Given the description of an element on the screen output the (x, y) to click on. 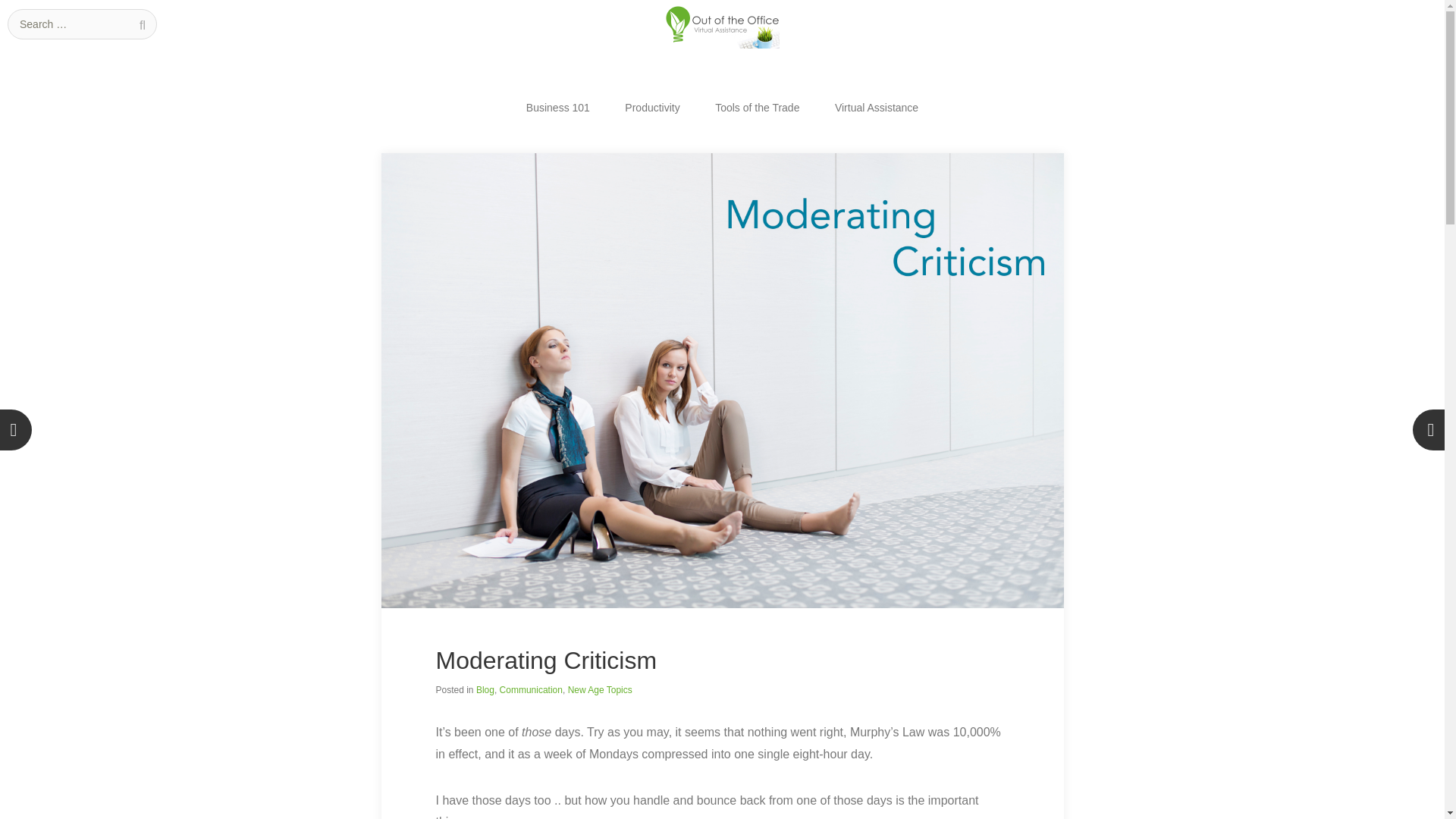
Blog (485, 689)
Virtual Assistance (876, 107)
Facebook (1318, 8)
Instagram (1340, 8)
Communication (530, 689)
Tools of the Trade (756, 107)
Pinterest (1404, 8)
Twitter (1382, 8)
Search for: (82, 24)
LinkedIn (1426, 8)
Business 101 (558, 107)
New Age Topics (599, 689)
YouTube (1362, 8)
Productivity (651, 107)
